Given the description of an element on the screen output the (x, y) to click on. 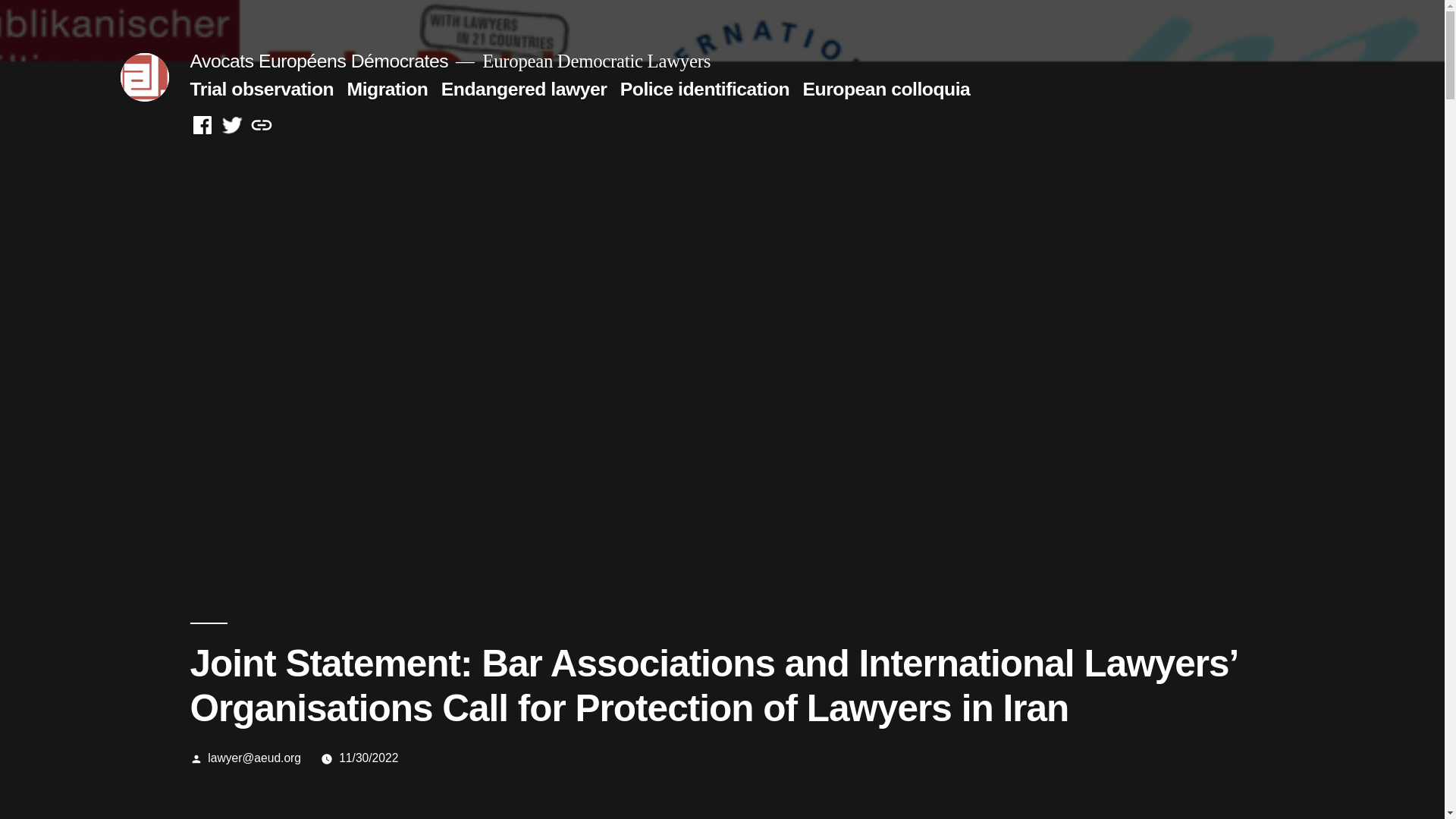
Twitter (231, 125)
Trial observation (261, 88)
facebook (201, 125)
Endangered lawyer (524, 88)
European colloquia (887, 88)
Telegram (260, 125)
Police identification (704, 88)
Migration (387, 88)
